Given the description of an element on the screen output the (x, y) to click on. 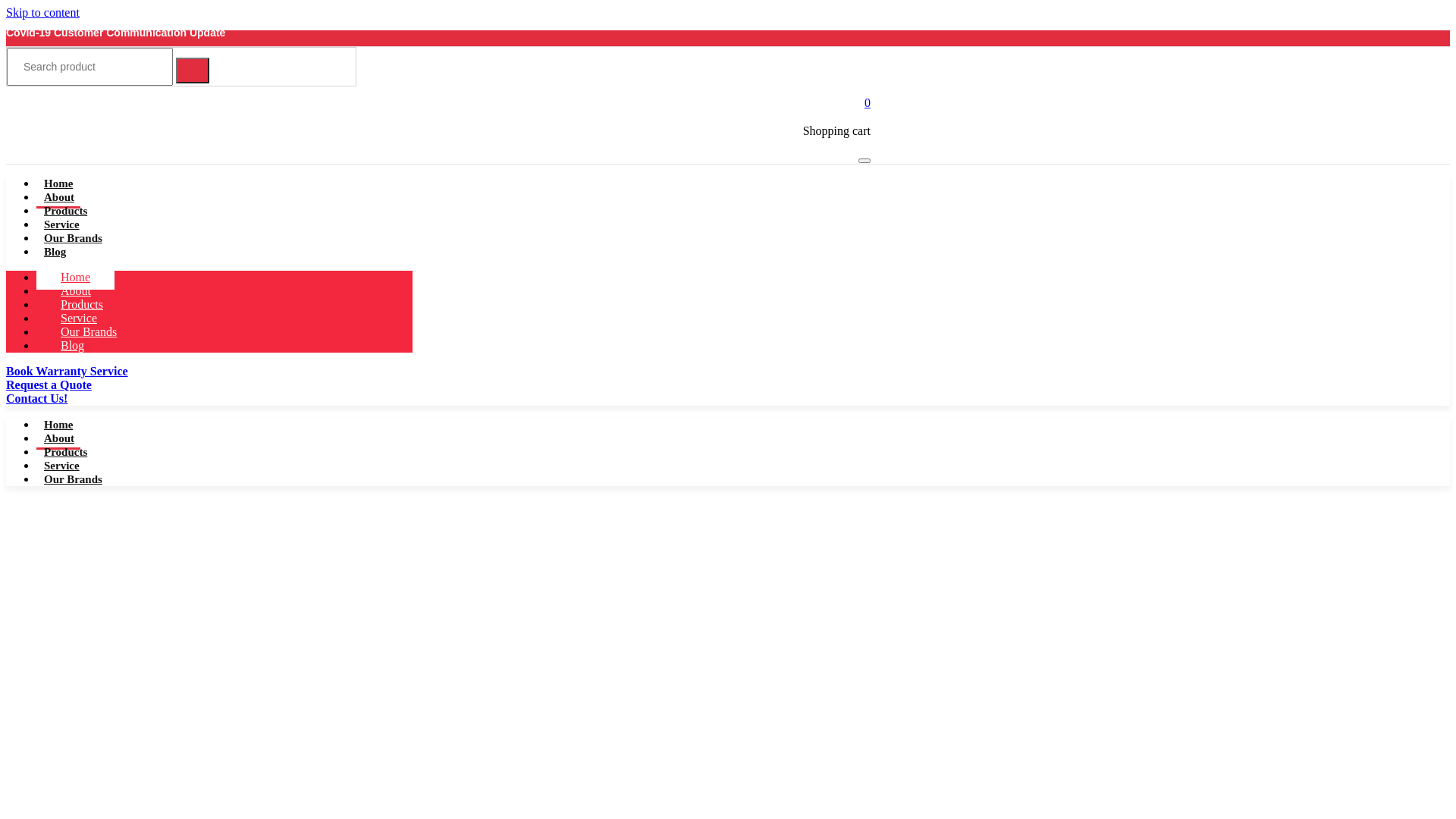
Our Brands Element type: text (72, 478)
Skip to content Element type: text (42, 12)
Service Element type: text (61, 465)
Book Warranty Service Element type: text (101, 371)
Home Element type: text (58, 425)
Our Brands Element type: text (88, 331)
0 Element type: text (867, 102)
About Element type: text (58, 437)
Our Brands Element type: text (72, 237)
Blog Element type: text (54, 251)
Home Element type: text (75, 276)
About Element type: text (75, 290)
About Element type: text (58, 196)
Service Element type: text (61, 223)
Products Element type: text (65, 210)
Service Element type: text (78, 317)
Contact Us! Element type: text (66, 398)
Blog Element type: text (72, 344)
Home Element type: text (58, 184)
Products Element type: text (81, 303)
Request a Quote Element type: text (79, 385)
Products Element type: text (65, 451)
